Given the description of an element on the screen output the (x, y) to click on. 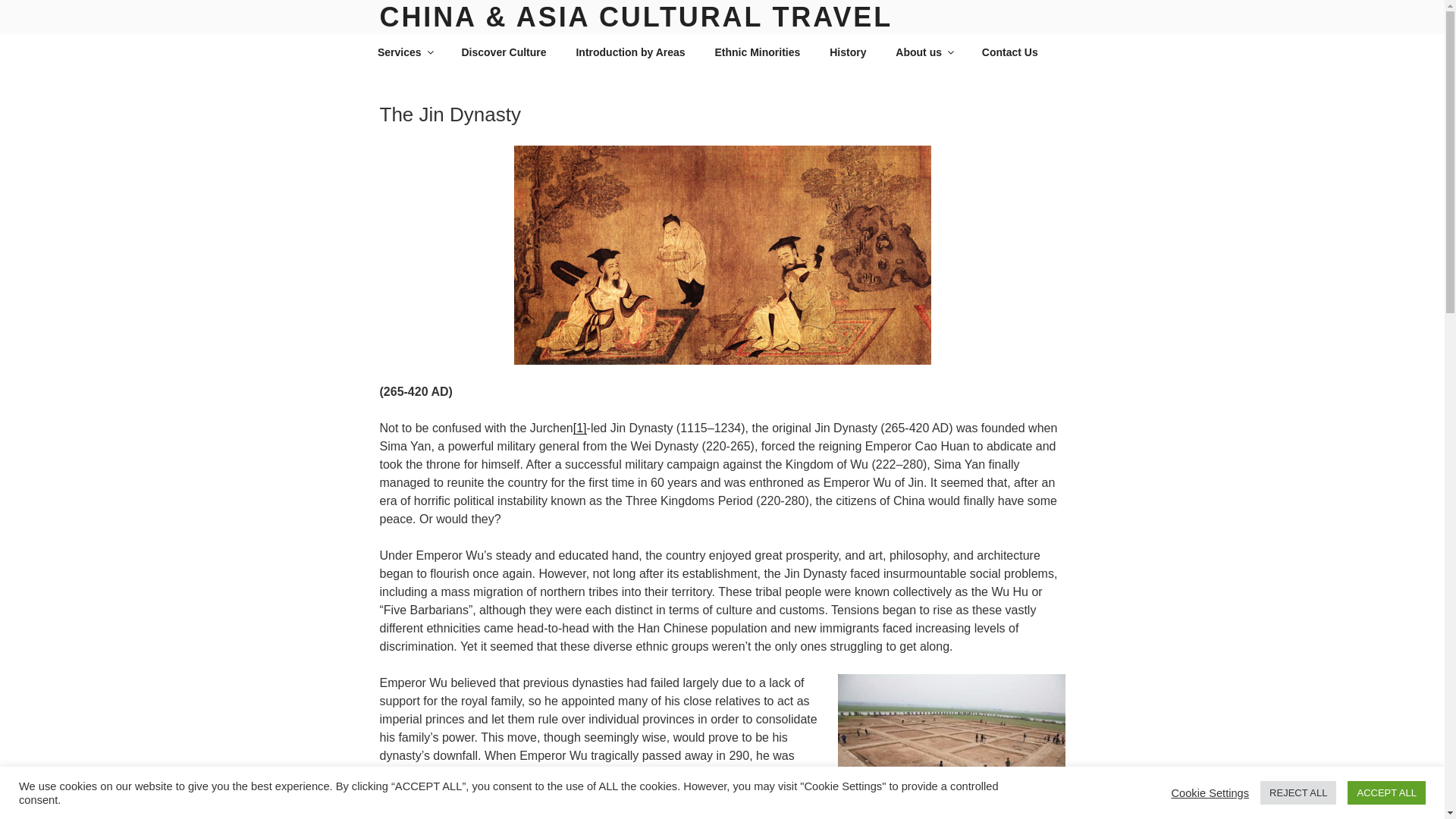
ACCEPT ALL (1386, 792)
Services (404, 52)
History (847, 52)
REJECT ALL (1298, 792)
Cookie Settings (1209, 792)
Contact Us (1009, 52)
Ethnic Minorities (757, 52)
Introduction by Areas (630, 52)
Discover Culture (503, 52)
About us (924, 52)
